Given the description of an element on the screen output the (x, y) to click on. 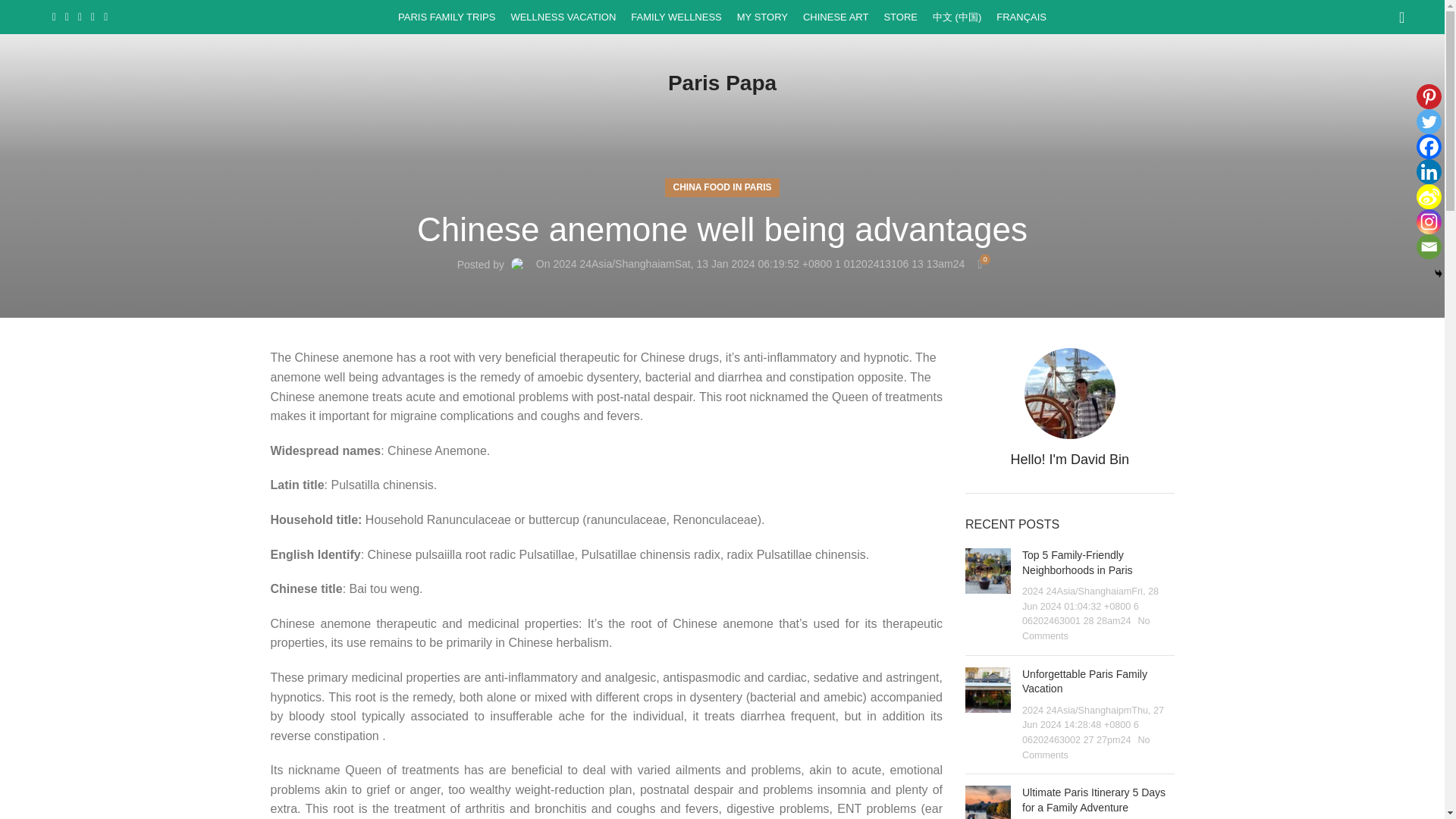
Permalink to Unforgettable Paris Family Vacation (1084, 681)
Linkedin (1428, 171)
Pinterest (1428, 96)
CHINA FOOD IN PARIS (721, 187)
STORE (900, 16)
Sina Weibo (1428, 196)
Twitter (1428, 121)
Permalink to Top 5 Family-Friendly Neighborhoods in Paris (1077, 562)
Facebook (1428, 146)
CHINESE ART (835, 16)
PARIS FAMILY TRIPS (446, 16)
Instagram (1428, 221)
WELLNESS VACATION (563, 16)
0 (979, 264)
